Given the description of an element on the screen output the (x, y) to click on. 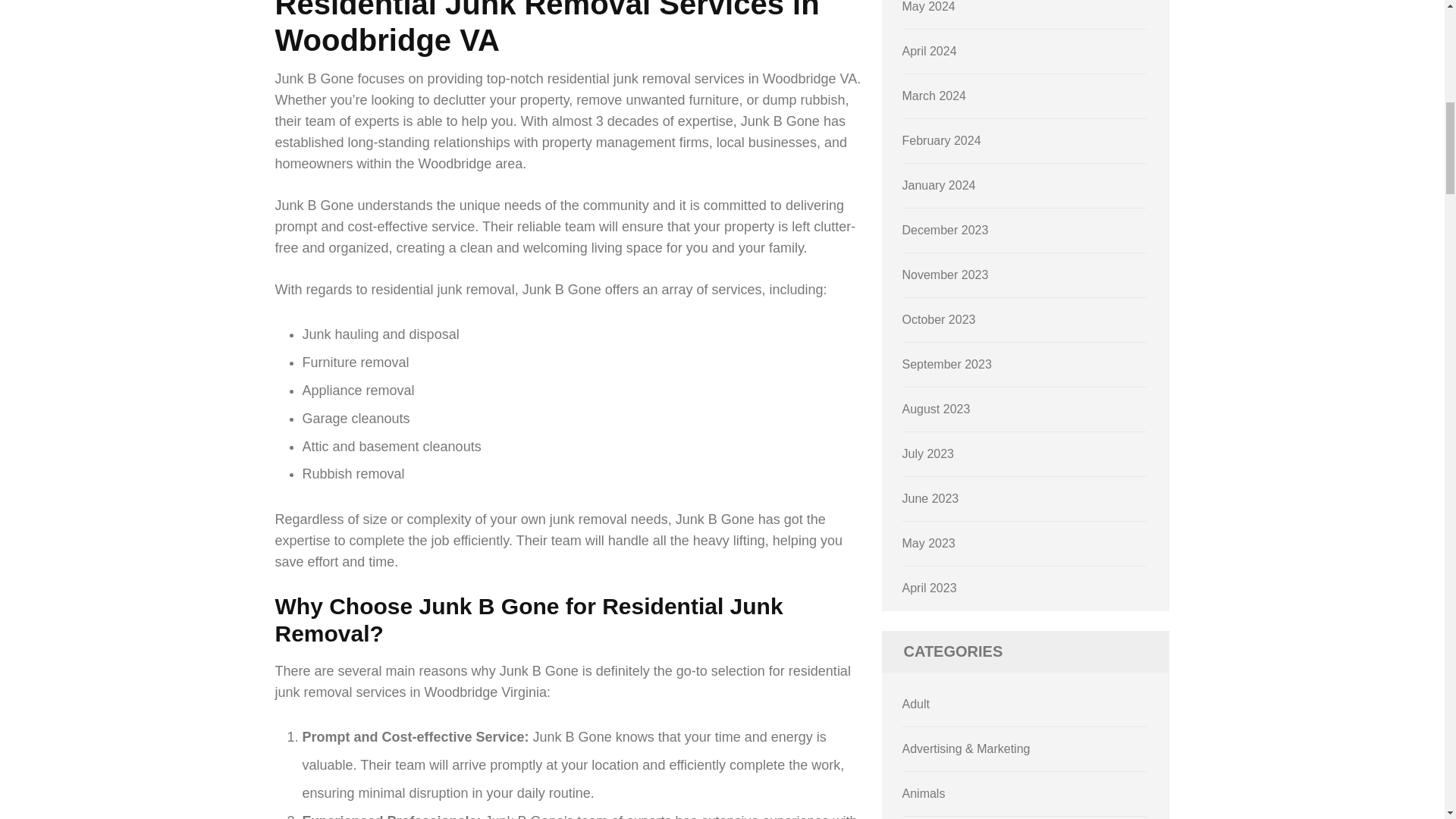
Adult (916, 703)
April 2023 (929, 587)
November 2023 (945, 274)
December 2023 (945, 229)
March 2024 (934, 95)
February 2024 (941, 140)
August 2023 (936, 408)
September 2023 (946, 364)
July 2023 (928, 453)
May 2023 (928, 543)
May 2024 (928, 6)
January 2024 (938, 185)
April 2024 (929, 51)
October 2023 (938, 318)
June 2023 (930, 498)
